Given the description of an element on the screen output the (x, y) to click on. 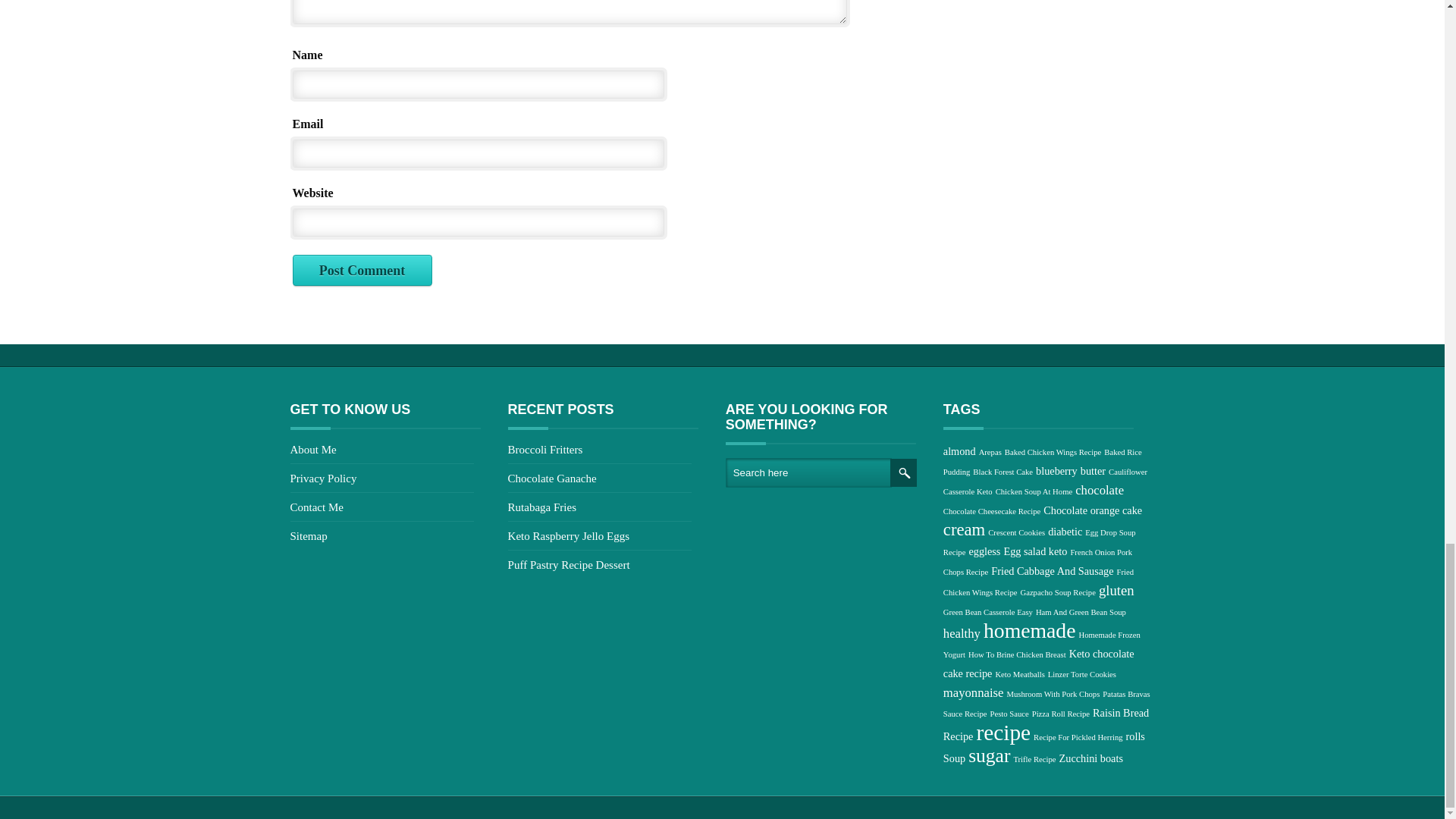
Post Comment (362, 270)
Search here (808, 472)
SEARCH (903, 472)
Post Comment (362, 270)
